Given the description of an element on the screen output the (x, y) to click on. 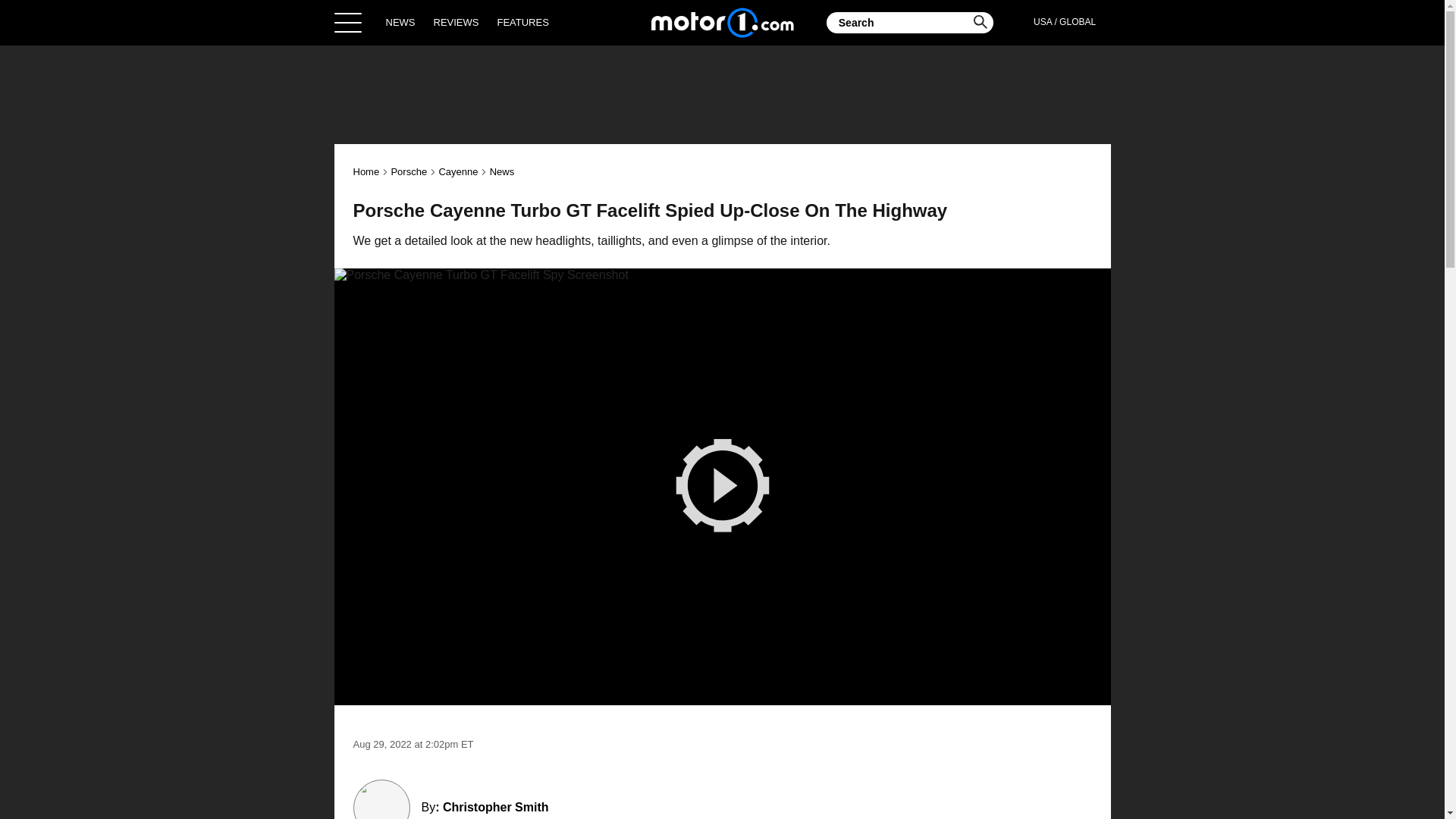
FEATURES (522, 22)
Christopher Smith (495, 807)
NEWS (399, 22)
REVIEWS (456, 22)
Cayenne (457, 171)
Home (721, 22)
Porsche (408, 171)
Home (366, 171)
News (502, 171)
